Given the description of an element on the screen output the (x, y) to click on. 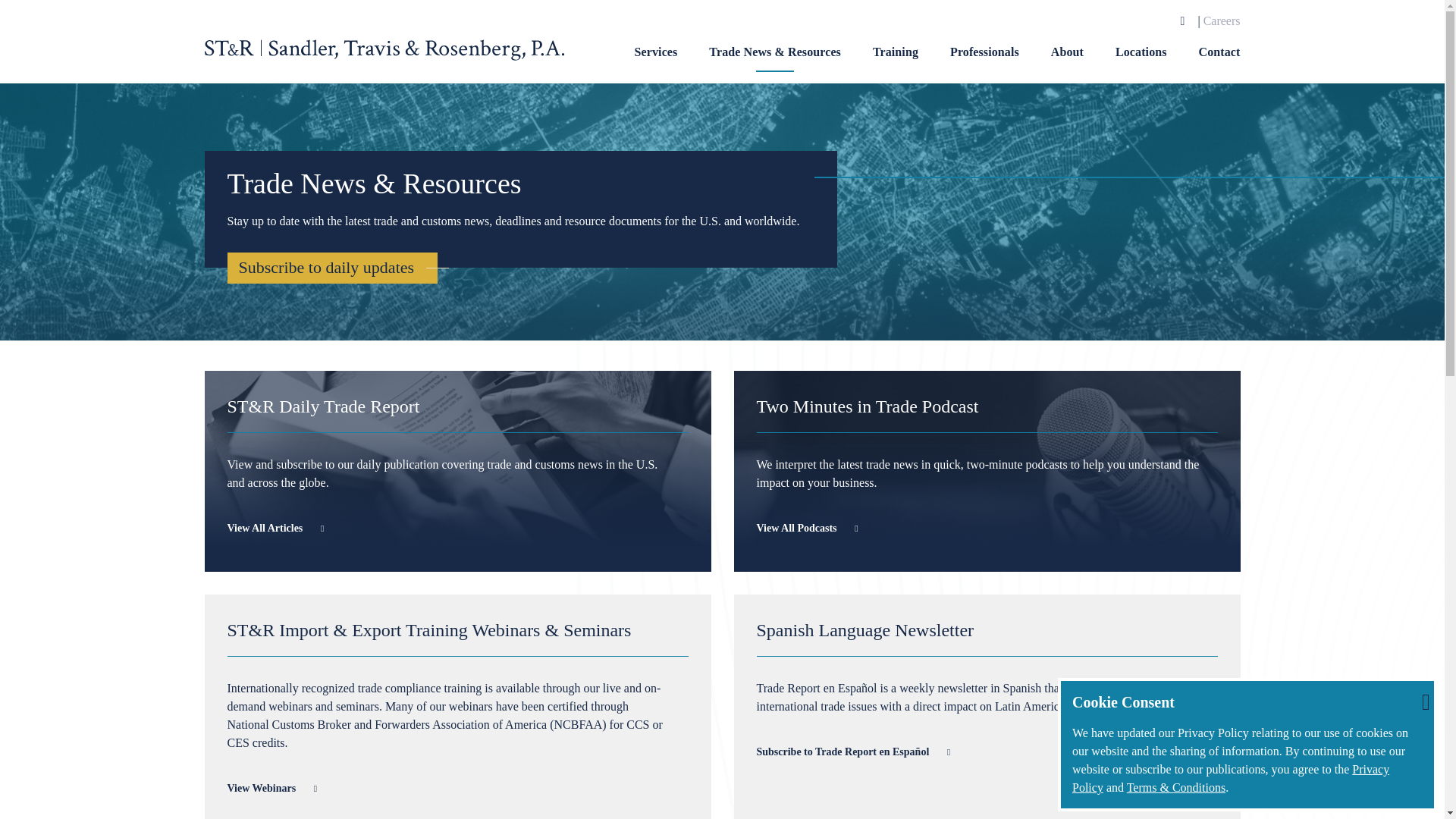
Services (656, 62)
Search (1182, 21)
Careers (1222, 19)
